Given the description of an element on the screen output the (x, y) to click on. 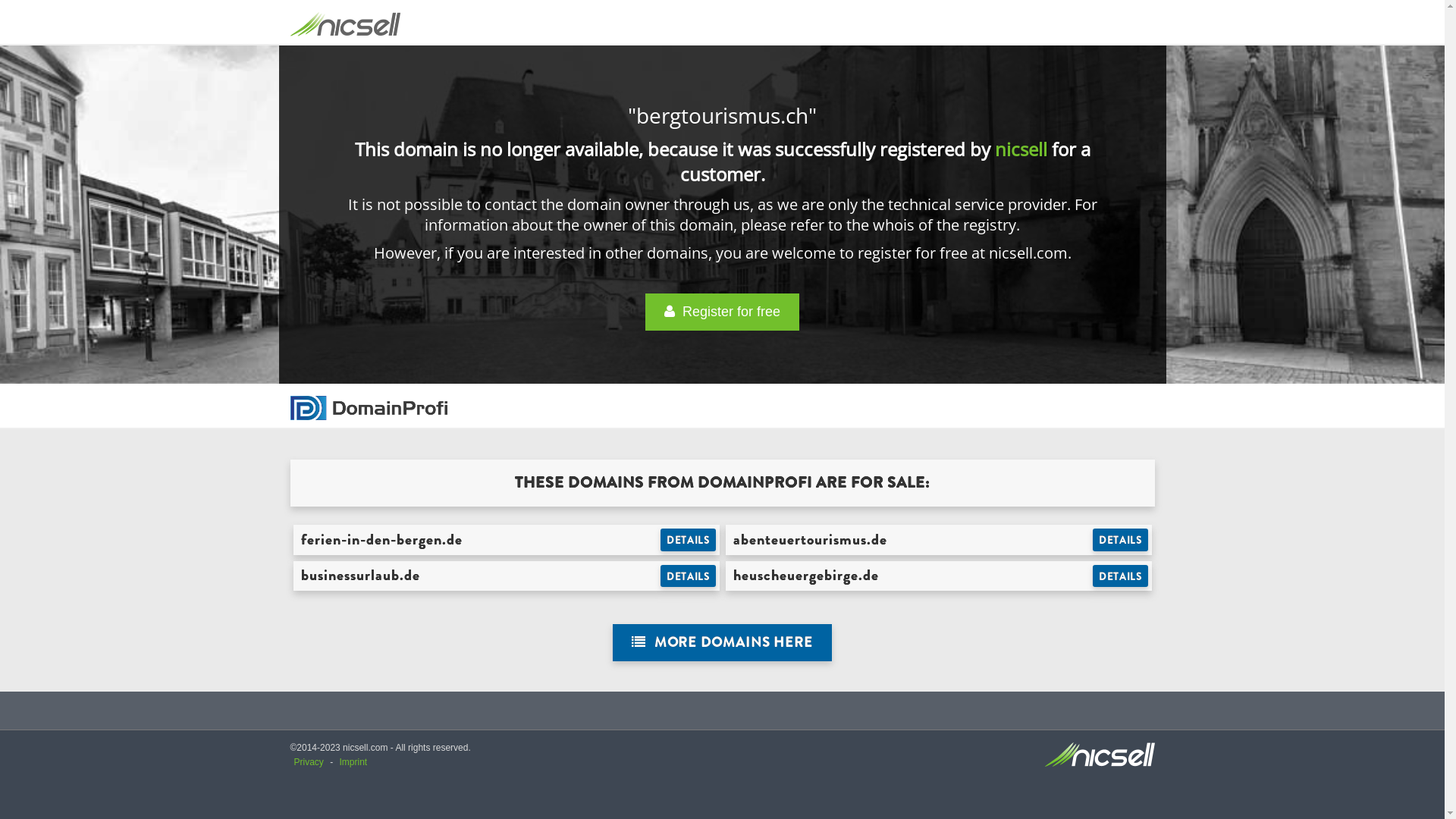
DETAILS Element type: text (1120, 575)
DETAILS Element type: text (687, 539)
  Register for free Element type: text (722, 311)
  MORE DOMAINS HERE Element type: text (721, 642)
nicsell Element type: text (1020, 148)
Imprint Element type: text (353, 761)
Privacy Element type: text (308, 761)
DETAILS Element type: text (1120, 539)
DETAILS Element type: text (687, 575)
